Given the description of an element on the screen output the (x, y) to click on. 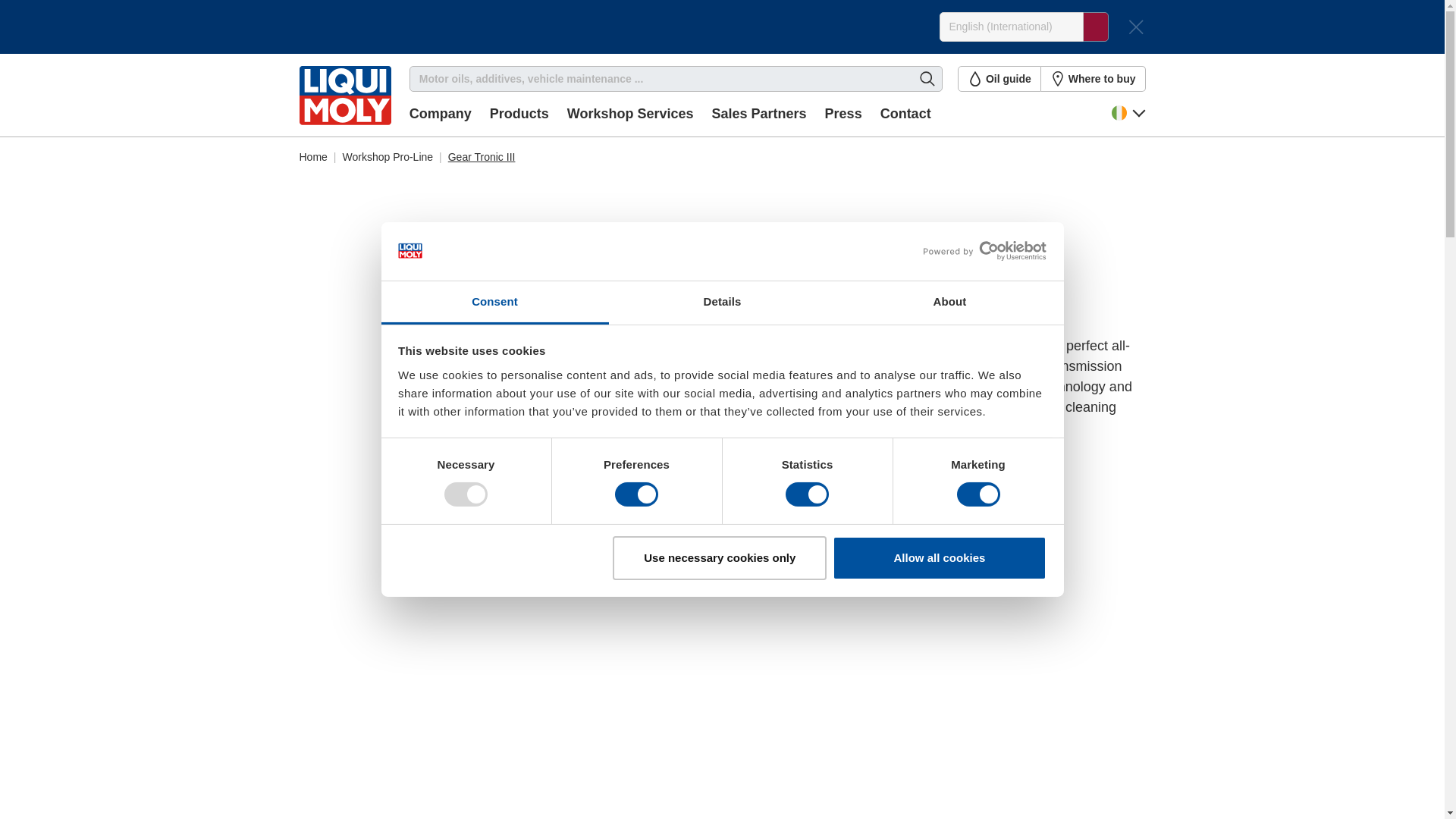
Details (721, 302)
About (948, 302)
Consent (494, 302)
Home Workshop Pro-Line Gear Tronic III (721, 151)
